Given the description of an element on the screen output the (x, y) to click on. 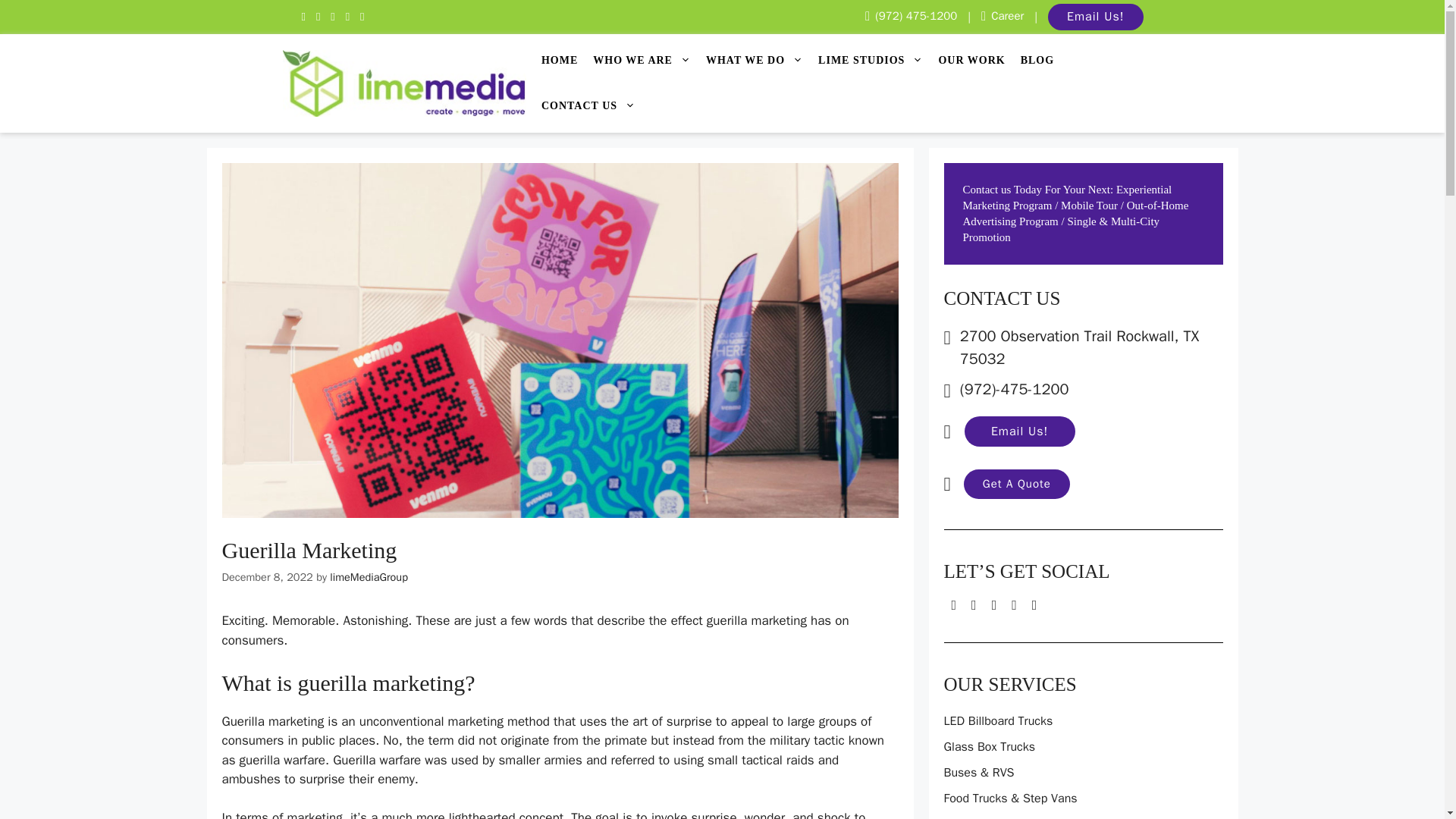
Career (1002, 16)
Email Us! (1095, 17)
HOME (566, 60)
OUR WORK (978, 60)
WHAT WE DO (762, 60)
WHO WE ARE (649, 60)
LIME STUDIOS (877, 60)
View all posts by limeMediaGroup (368, 576)
